Given the description of an element on the screen output the (x, y) to click on. 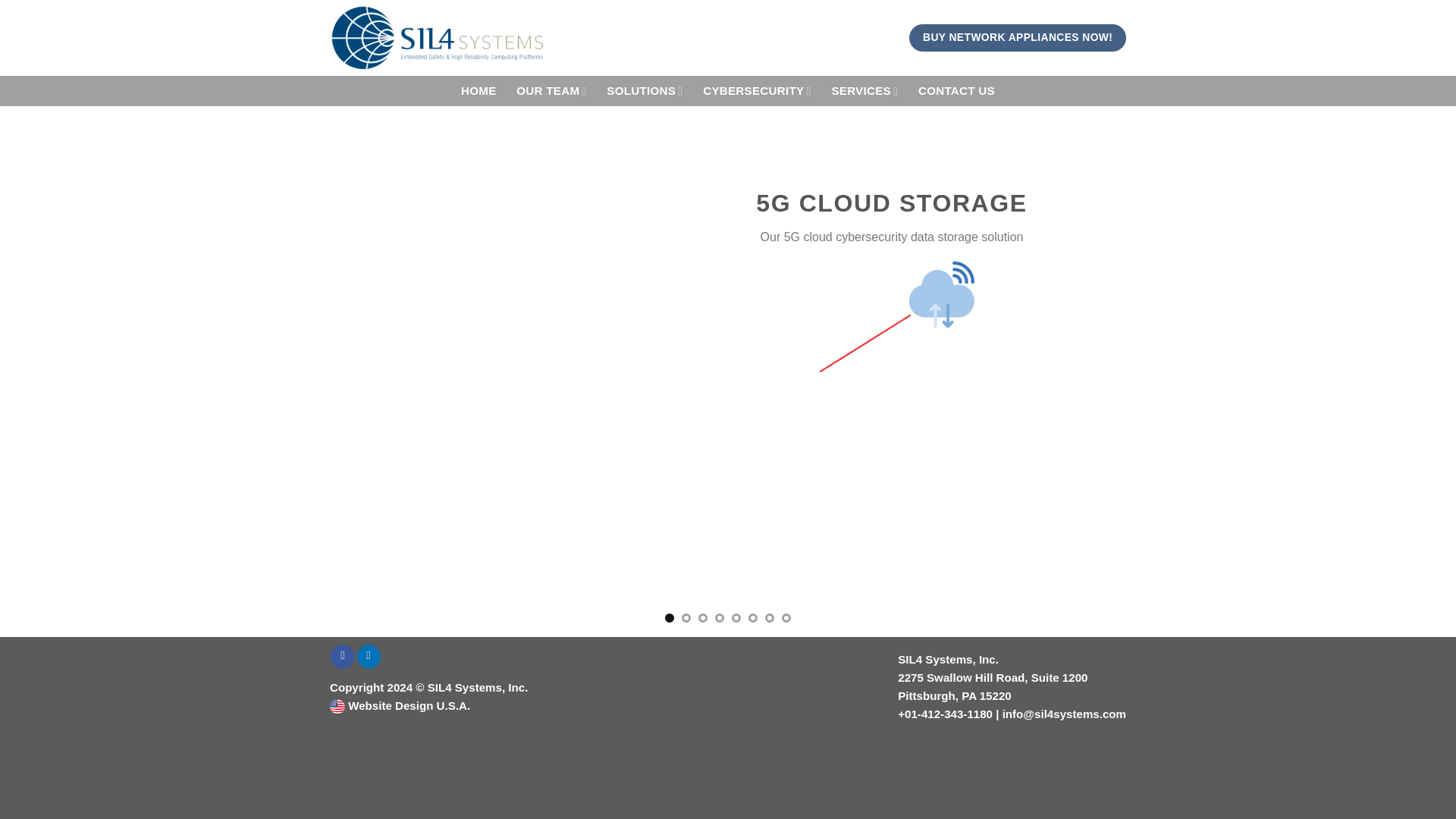
Follow on LinkedIn (368, 656)
CYBERSECURITY (757, 91)
BUY NETWORK APPLIANCES NOW! (1016, 37)
OUR TEAM (551, 91)
CONTACT US (957, 91)
SOLUTIONS (644, 91)
HOME (478, 91)
Website Design U.S.A. (407, 705)
SERVICES (864, 91)
